Given the description of an element on the screen output the (x, y) to click on. 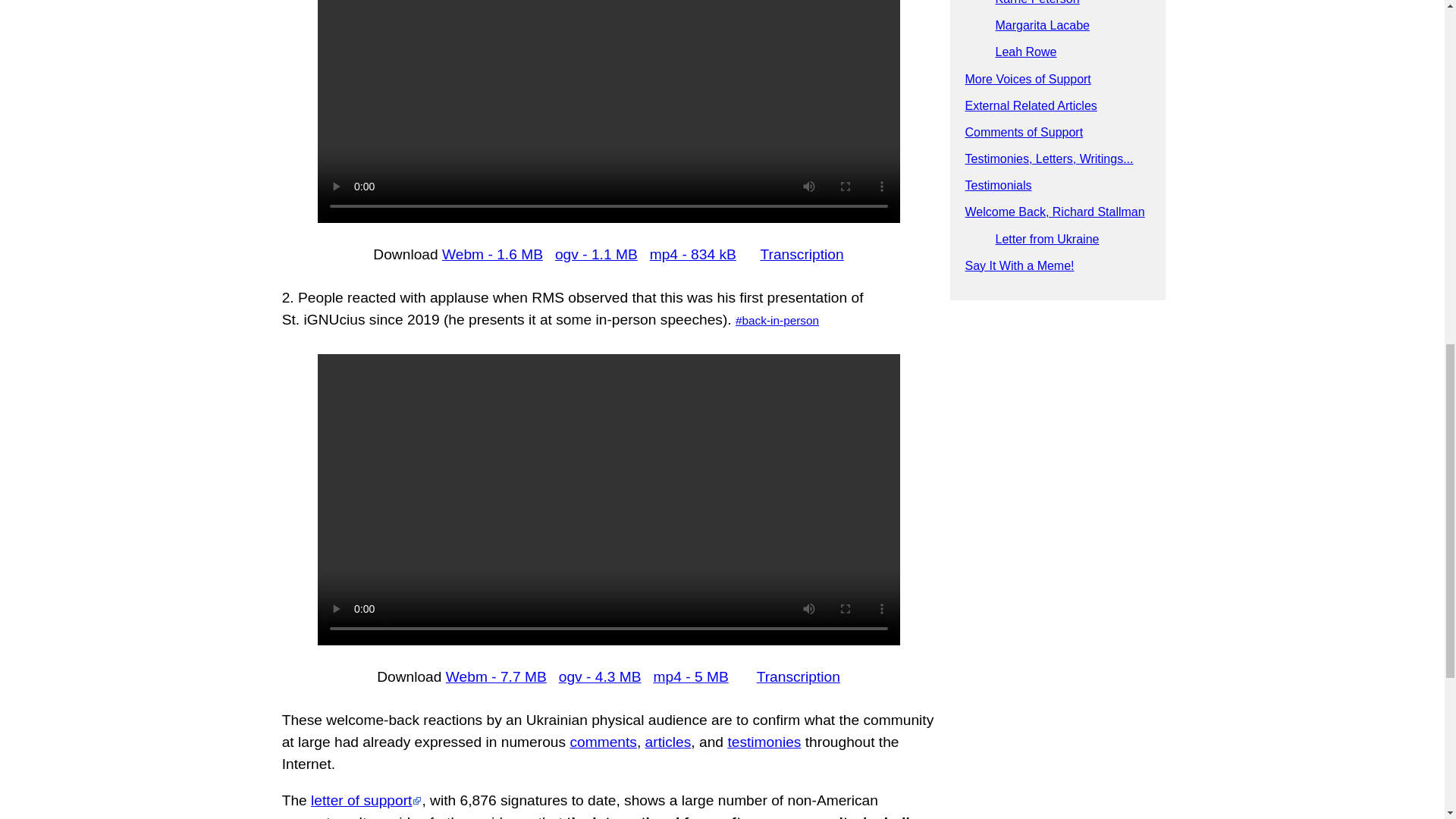
ogv - 4.3 MB (600, 676)
Webm - 7.7 MB (496, 676)
testimonies (763, 741)
Transcription (801, 254)
Transcription (798, 676)
articles (668, 741)
mp4 - 834 kB (692, 254)
letter of support (366, 800)
comments (603, 741)
Webm - 1.6 MB (492, 254)
